Given the description of an element on the screen output the (x, y) to click on. 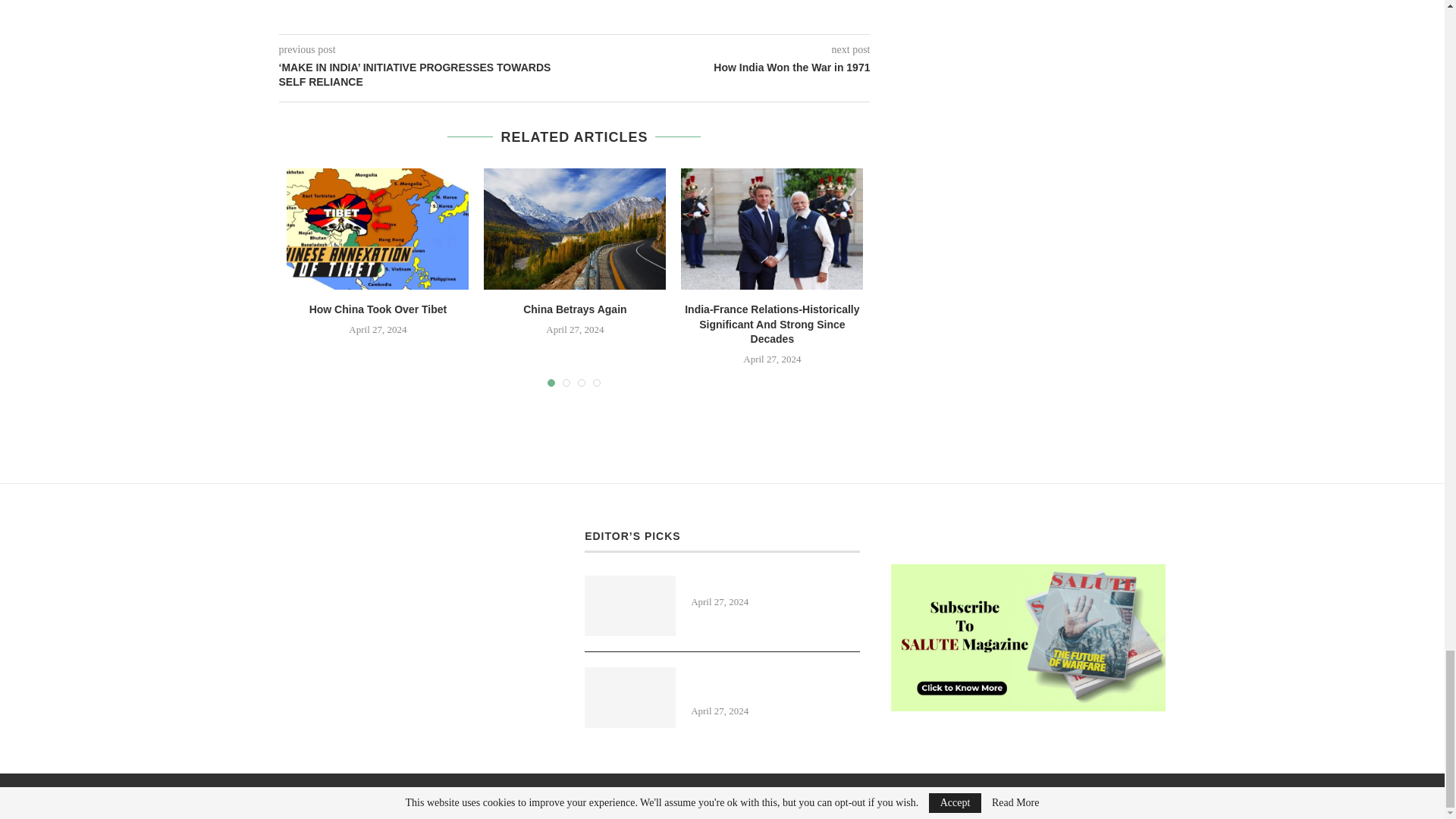
How India Won the War in 1971 (722, 68)
How China Took Over Tibet (377, 228)
China Betrays Again (574, 309)
China Betrays Again (574, 228)
How China Took Over Tibet (377, 309)
